Given the description of an element on the screen output the (x, y) to click on. 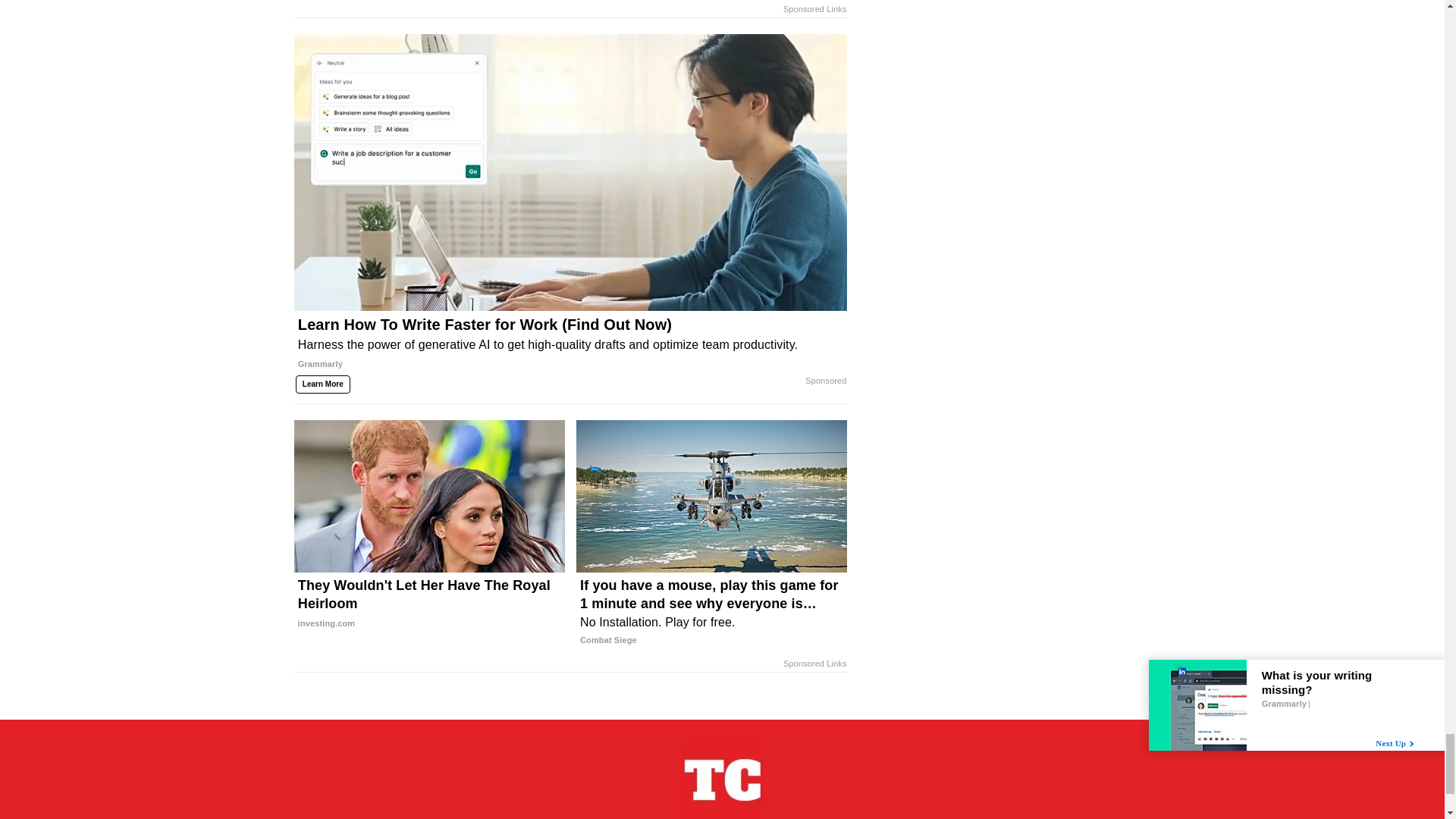
They Wouldn't Let Her Have The Royal Heirloom (429, 604)
